Given the description of an element on the screen output the (x, y) to click on. 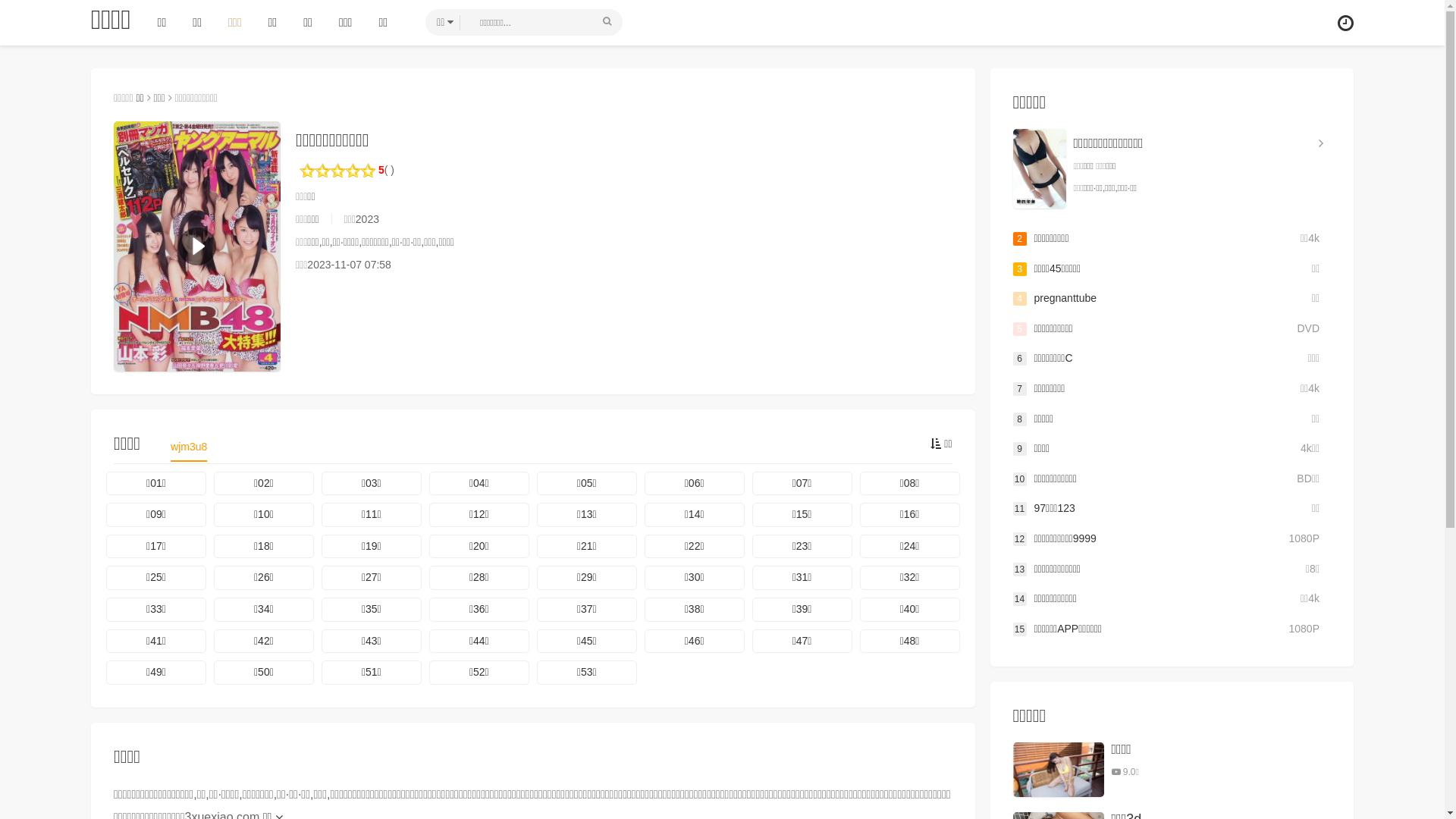
wjm3u8 Element type: text (188, 450)
